Given the description of an element on the screen output the (x, y) to click on. 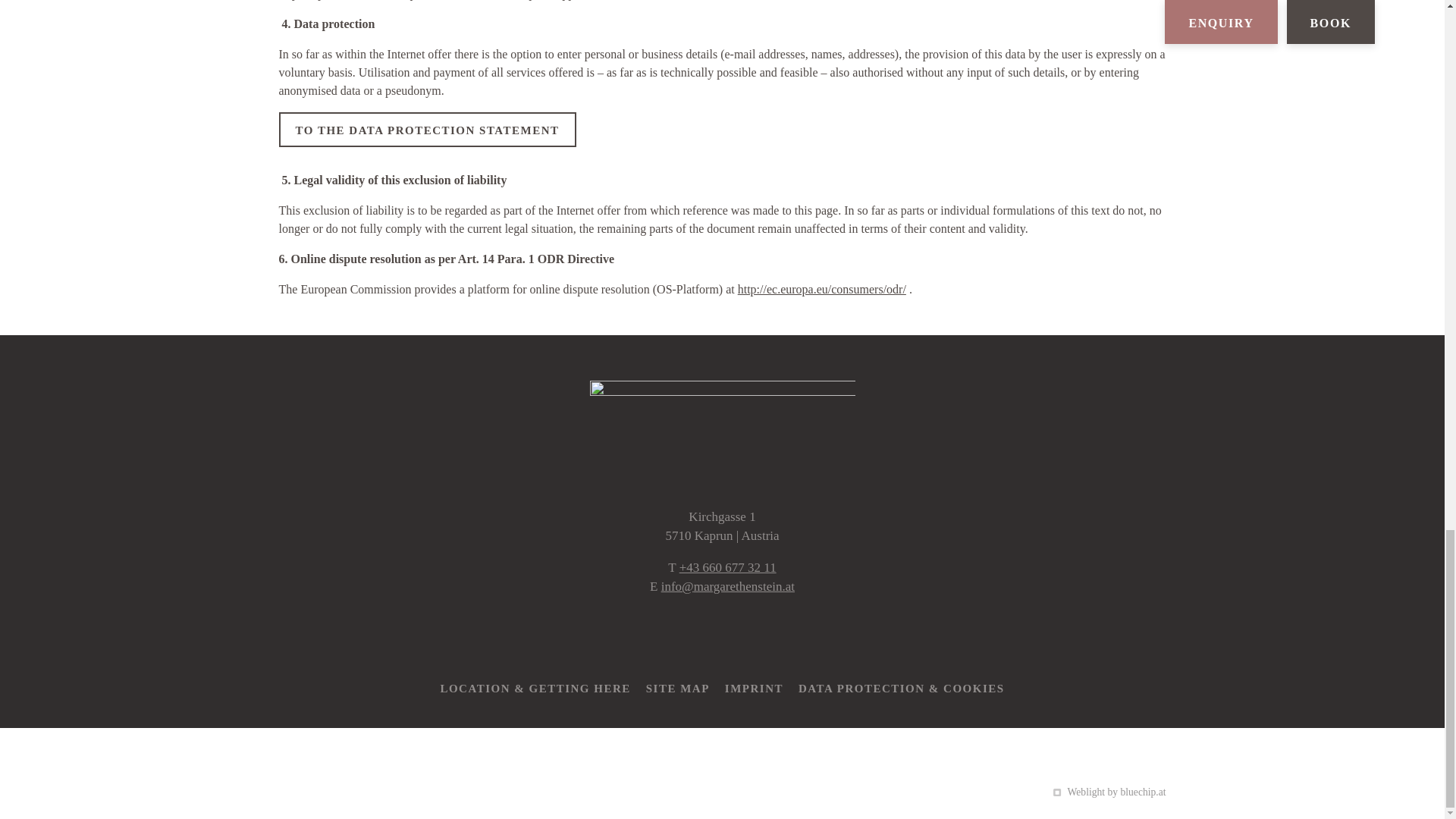
Logo: HolidayCheck (743, 632)
Logo: TripAdvisor (790, 632)
Logo: Instagram (695, 632)
Logo: Facebook (653, 632)
